Given the description of an element on the screen output the (x, y) to click on. 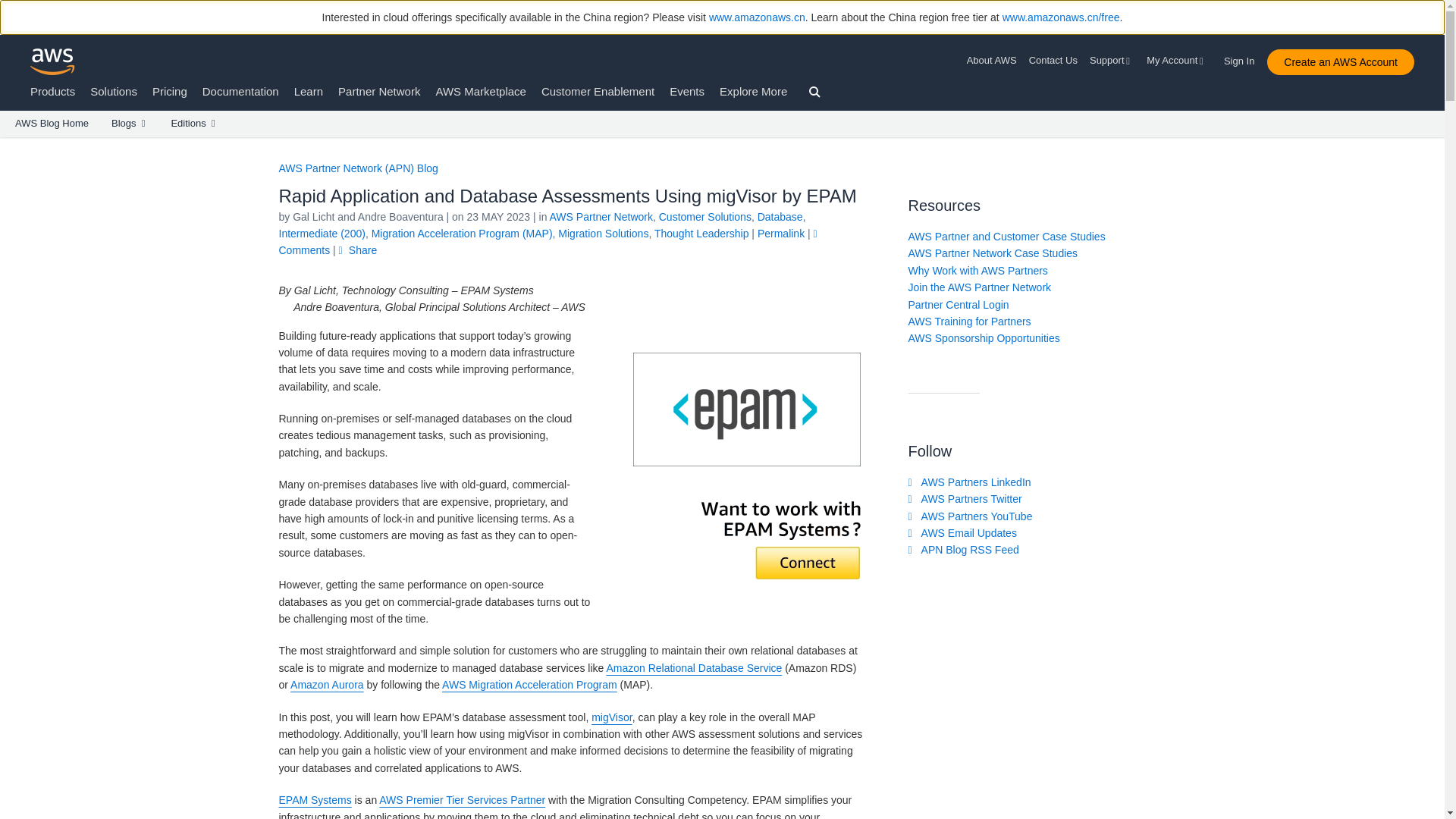
About AWS (994, 60)
www.amazonaws.cn (757, 17)
Customer Enablement (597, 91)
View all posts in Database (780, 216)
View all posts in AWS Partner Network (601, 216)
AWS Marketplace (480, 91)
Products (52, 91)
Support  (1111, 60)
Learn (308, 91)
Skip to Main Content (7, 143)
